Given the description of an element on the screen output the (x, y) to click on. 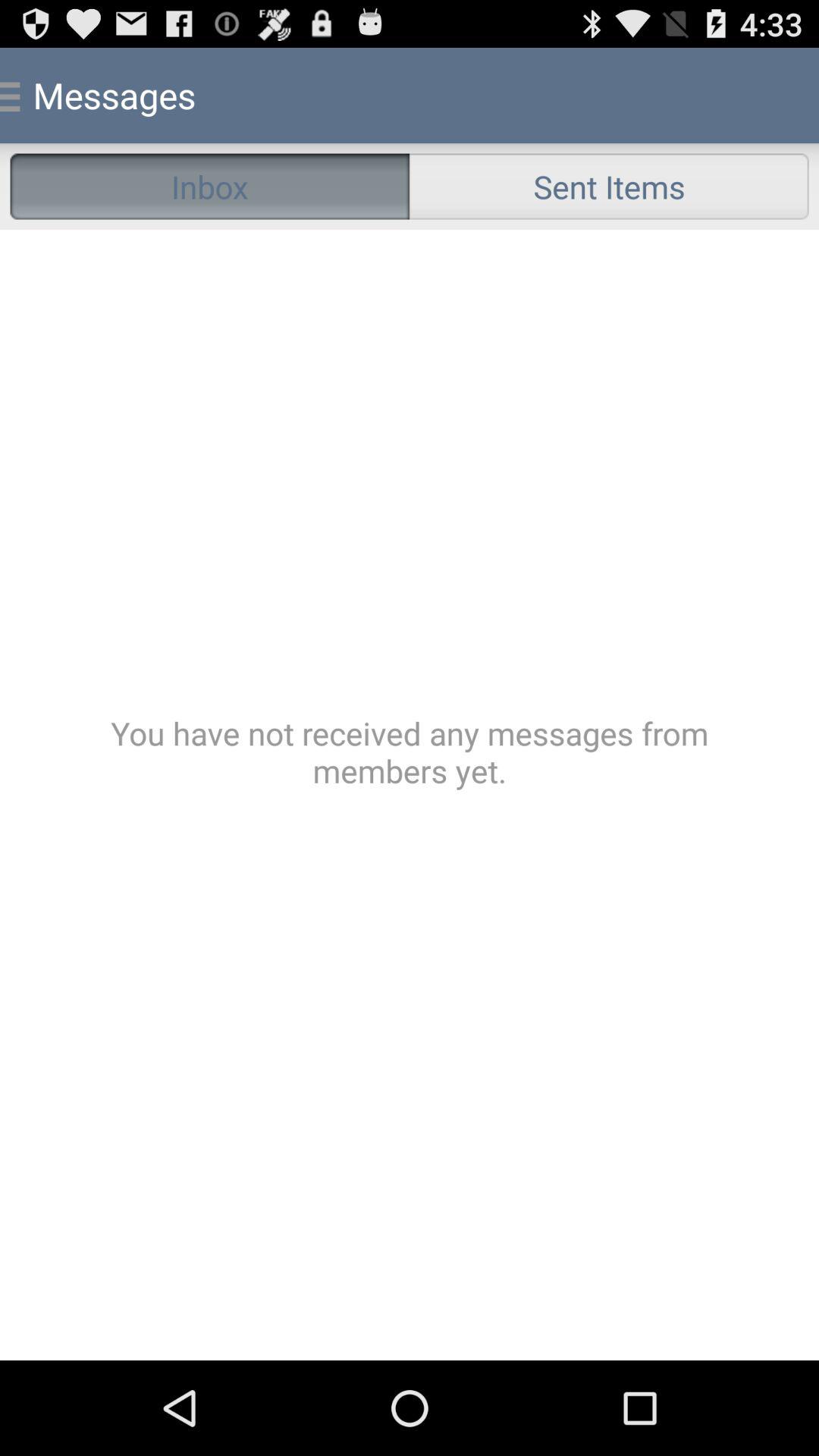
displayed messages (409, 794)
